Given the description of an element on the screen output the (x, y) to click on. 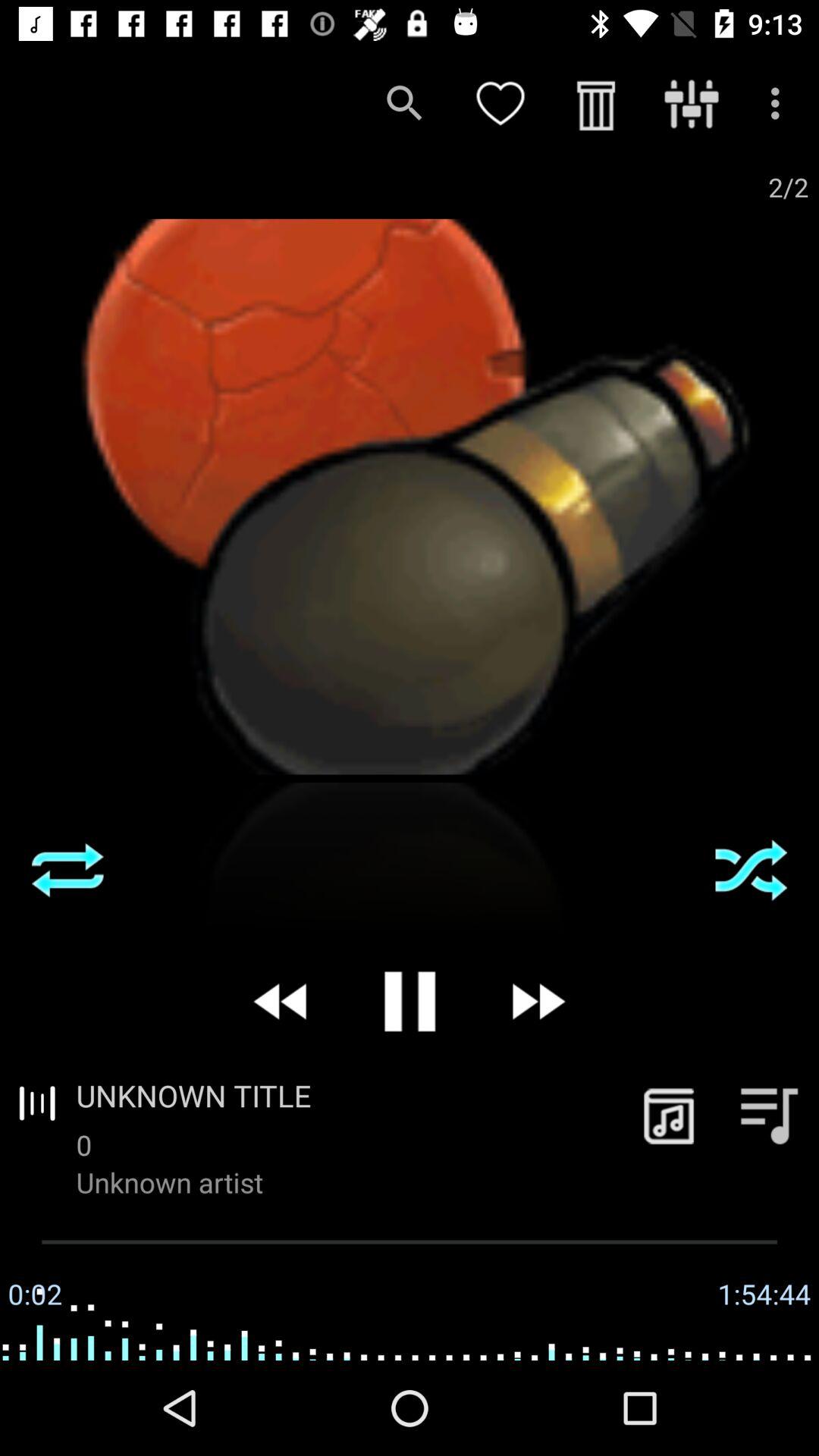
launch the item on the left (67, 869)
